Given the description of an element on the screen output the (x, y) to click on. 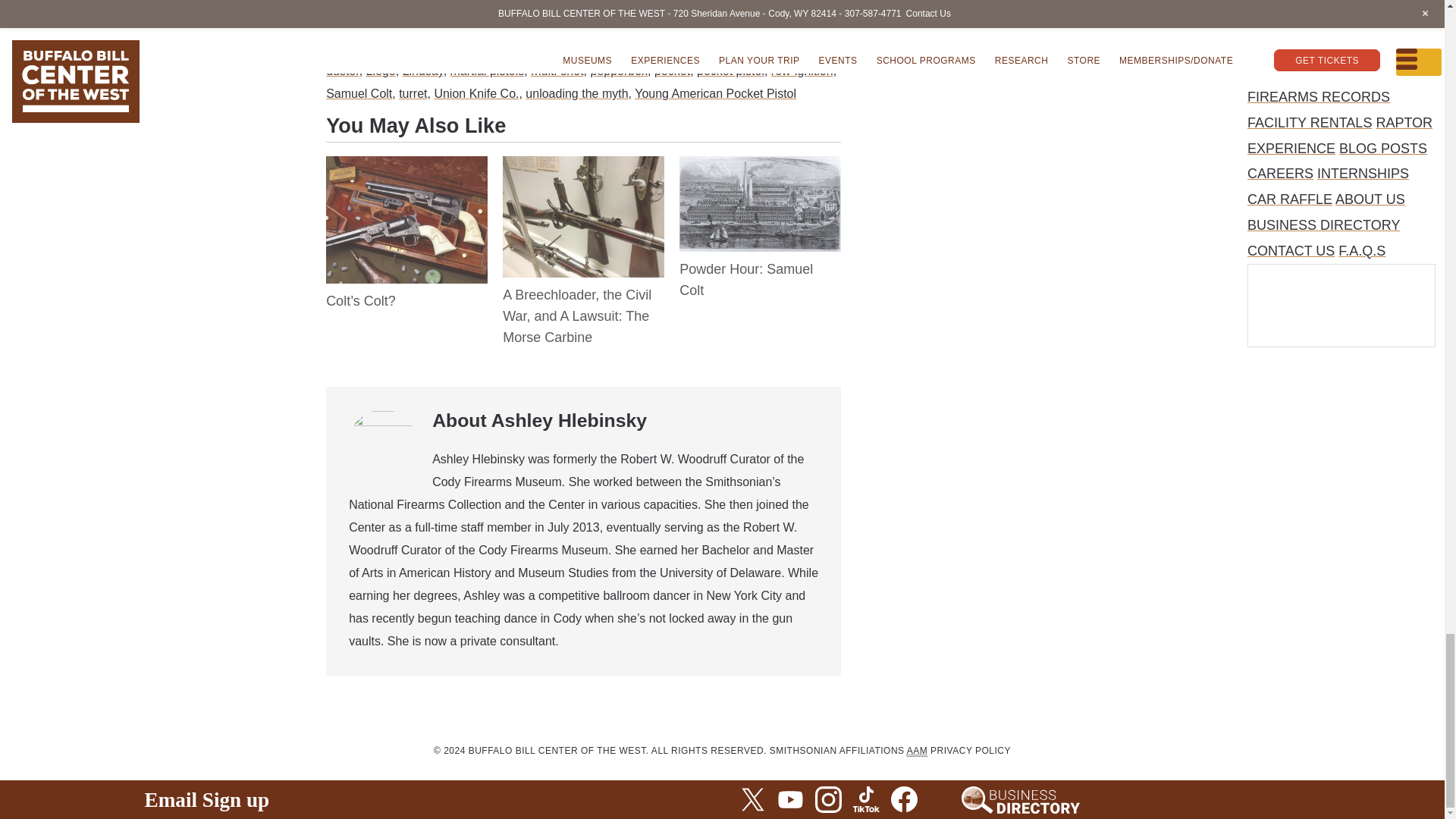
Permanent Link to Powder Hour: Samuel Colt (760, 168)
Permanent Link to Powder Hour: Samuel Colt (745, 279)
The American Alliance of Museums (917, 750)
